Given the description of an element on the screen output the (x, y) to click on. 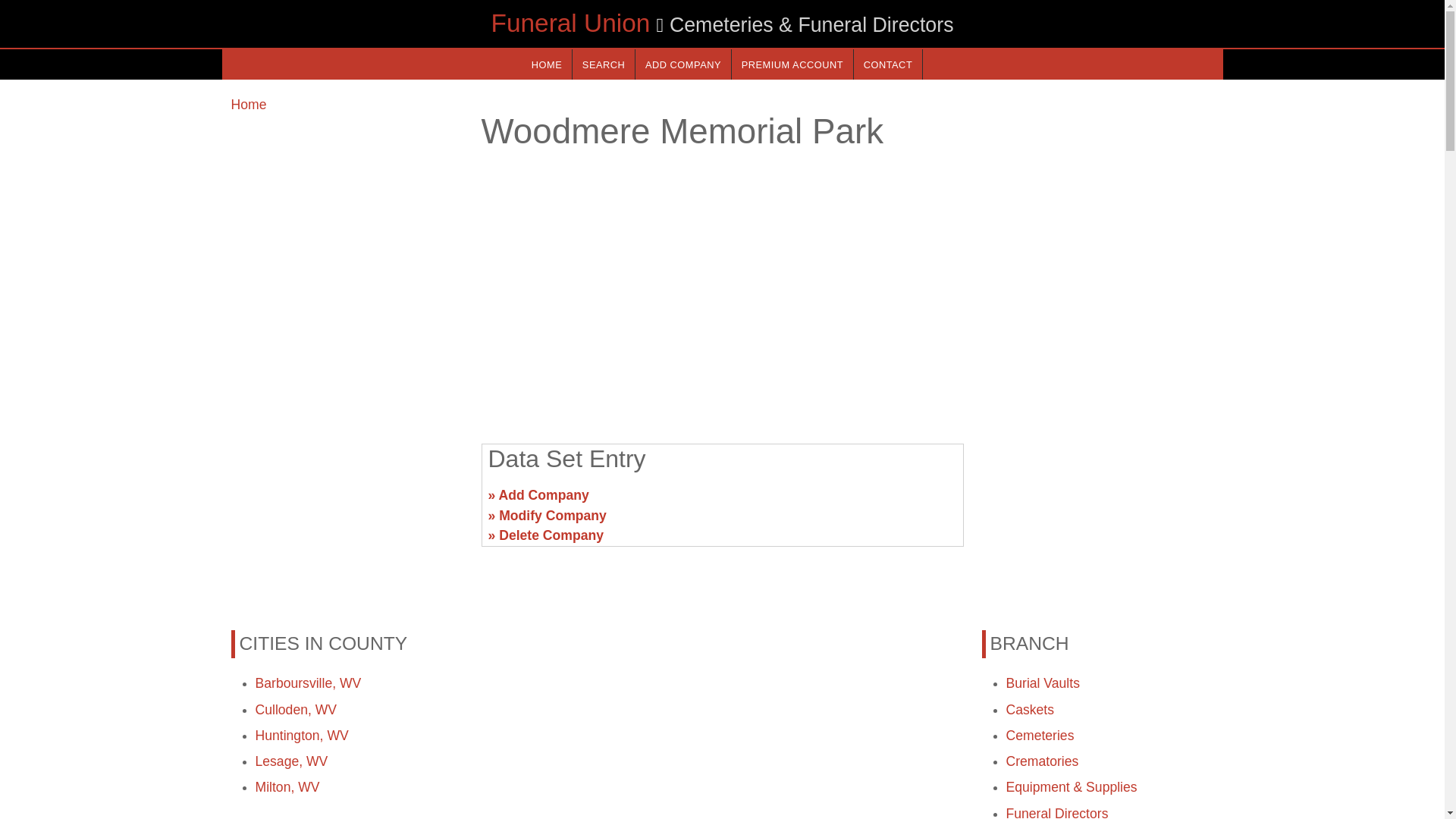
PREMIUM ACCOUNT (792, 64)
Cemeteries (1040, 735)
Milton, WV (286, 786)
Funeral Union (569, 22)
HOME (546, 64)
SEARCH (603, 64)
Crematories (1042, 761)
Search in this webseite. (603, 64)
Barboursville, WV (307, 683)
